Given the description of an element on the screen output the (x, y) to click on. 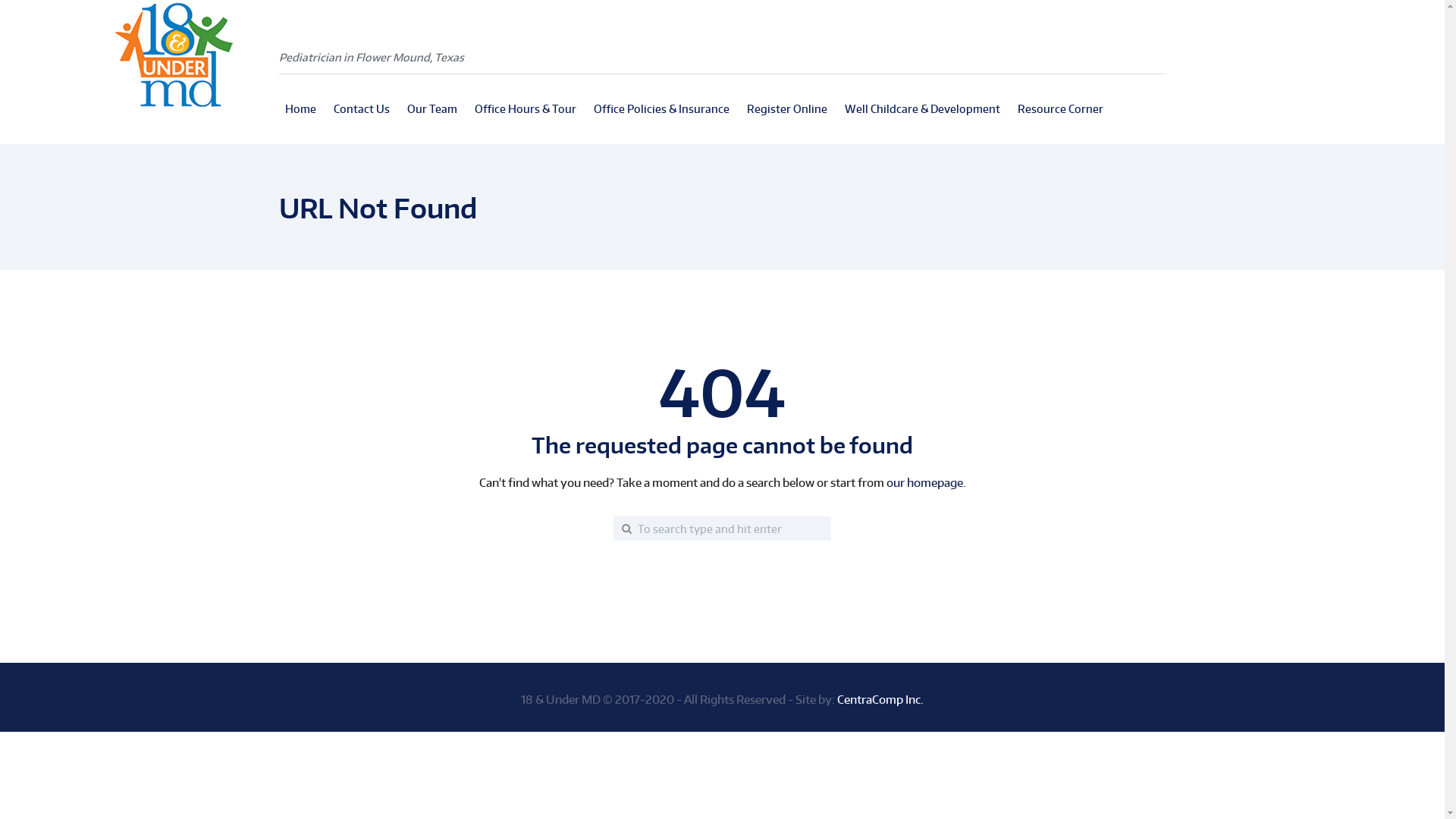
Resource Corner Element type: text (1060, 109)
Office Policies & Insurance Element type: text (660, 109)
Office Hours & Tour Element type: text (525, 109)
Contact Us Element type: text (361, 109)
Start search Element type: hover (599, 528)
Well Childcare & Development Element type: text (922, 109)
CentraComp Inc. Element type: text (880, 699)
our homepage Element type: text (923, 482)
Pediatrician in Flower Mound, Texas Element type: text (371, 45)
Home Element type: text (300, 109)
Our Team Element type: text (431, 109)
Register Online Element type: text (786, 109)
